Given the description of an element on the screen output the (x, y) to click on. 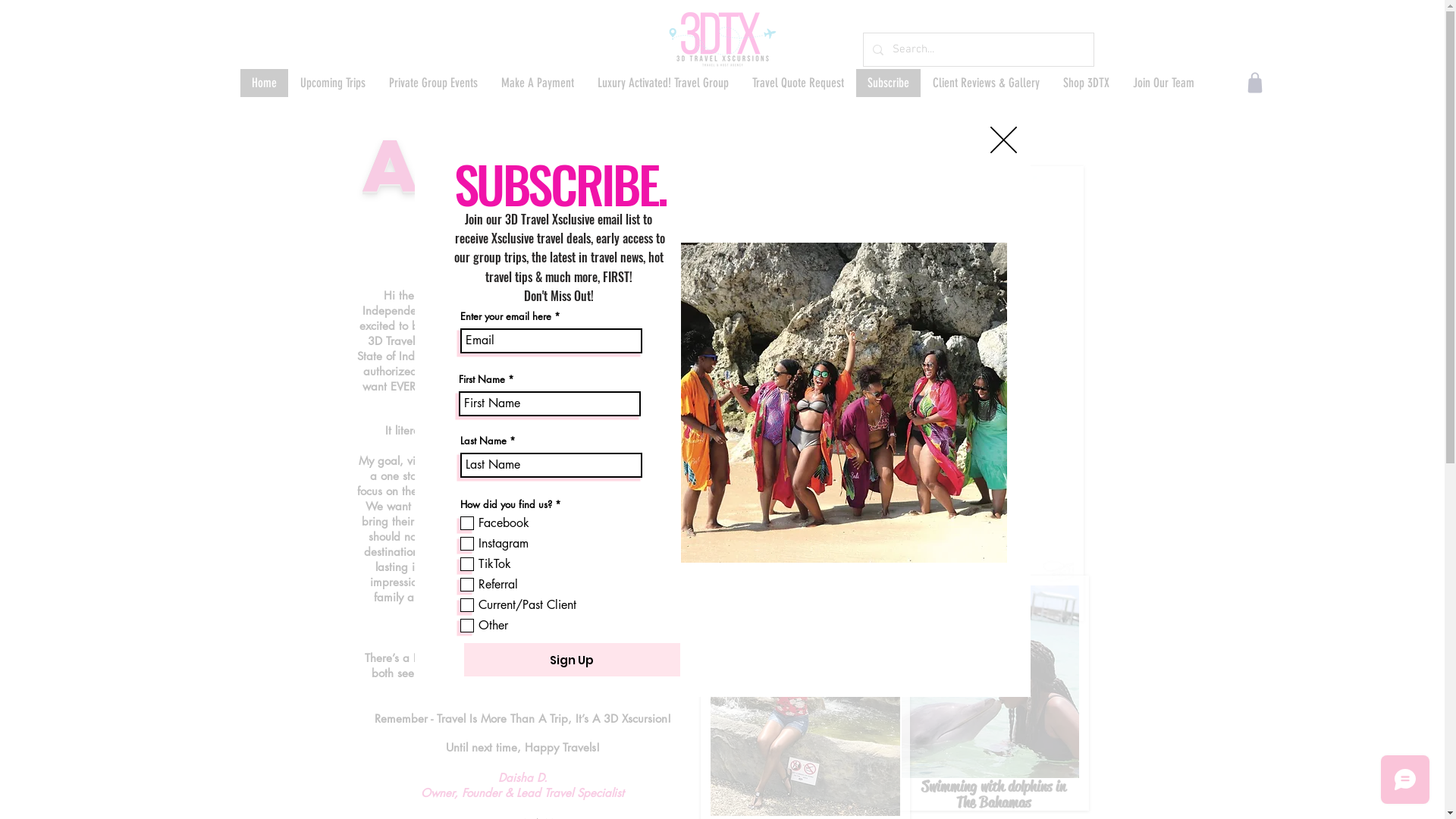
Upcoming Trips Element type: text (332, 83)
Client Reviews & Gallery Element type: text (985, 83)
Shop 3DTX Element type: text (1085, 83)
Make A Payment Element type: text (536, 83)
Join Our Team Element type: text (1162, 83)
Luxury Activated! Travel Group Element type: text (662, 83)
Home Element type: text (263, 83)
Subscribe Element type: text (887, 83)
Back to site Element type: hover (1003, 139)
#3DTraveler  Element type: text (606, 596)
Travel Quote Request Element type: text (797, 83)
Sign Up Element type: text (572, 659)
